Given the description of an element on the screen output the (x, y) to click on. 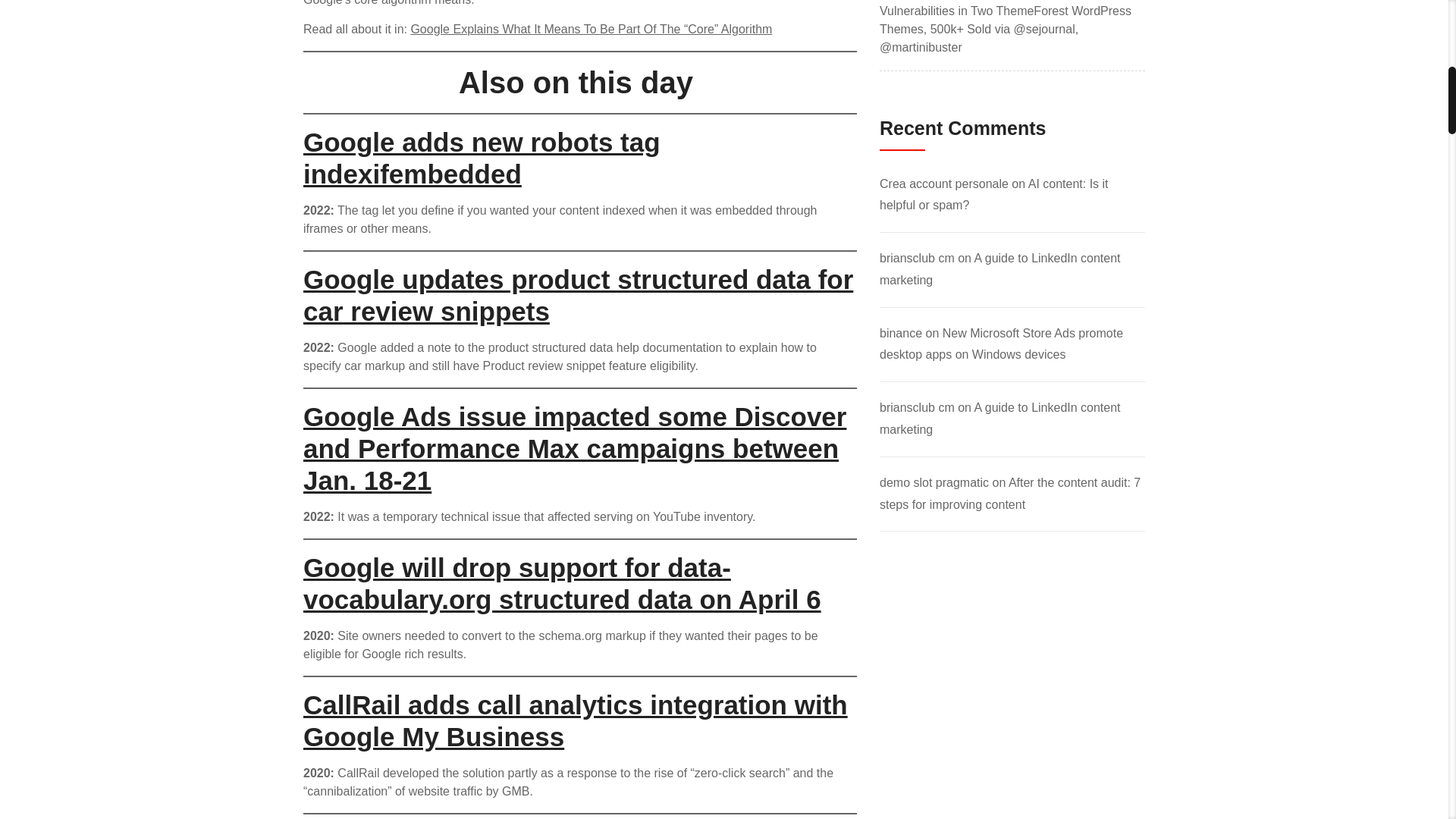
Google adds new robots tag indexifembedded (481, 158)
